Given the description of an element on the screen output the (x, y) to click on. 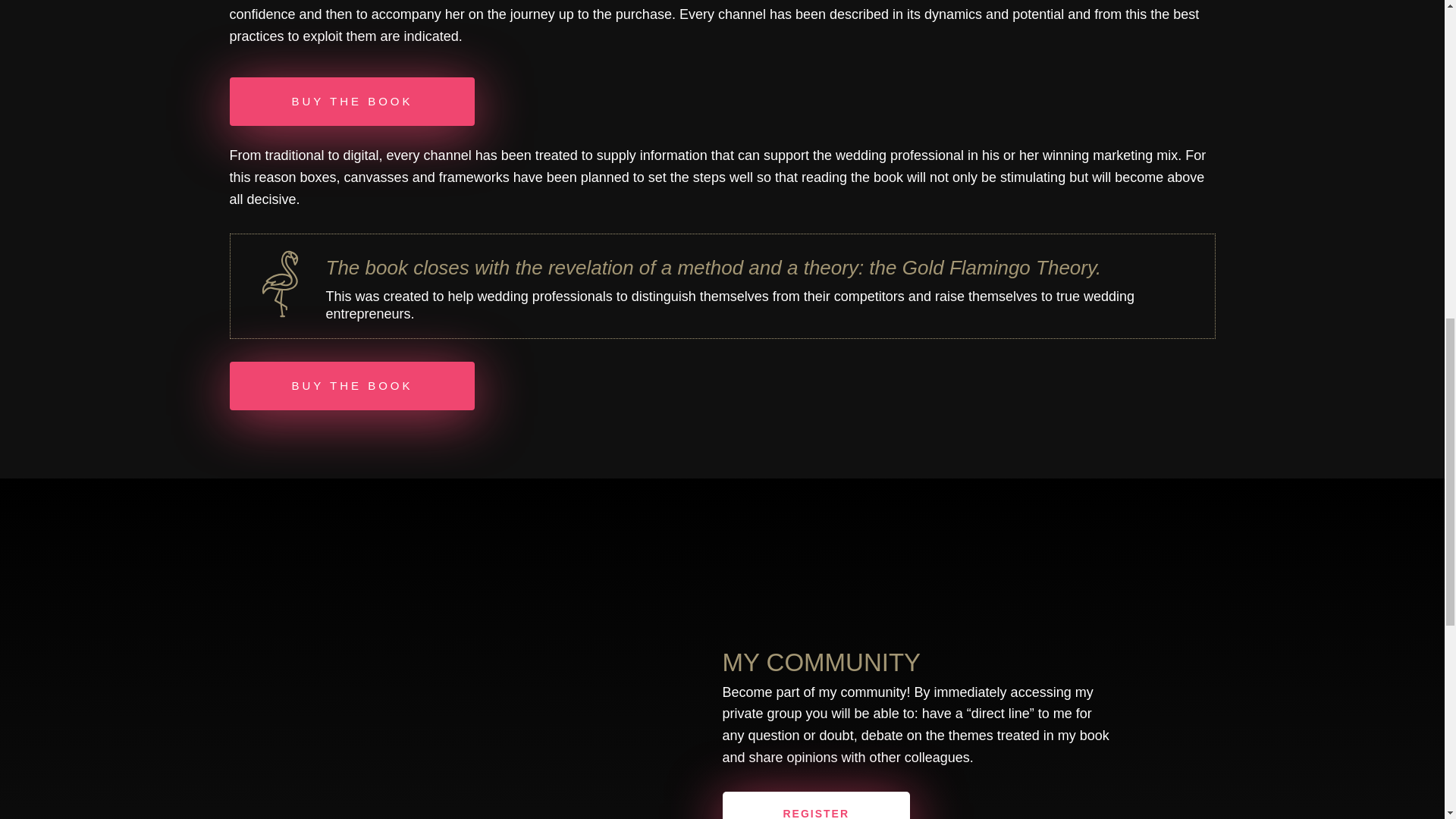
BUY THE BOOK (351, 385)
REGISTER (816, 805)
BUY THE BOOK (351, 101)
